Given the description of an element on the screen output the (x, y) to click on. 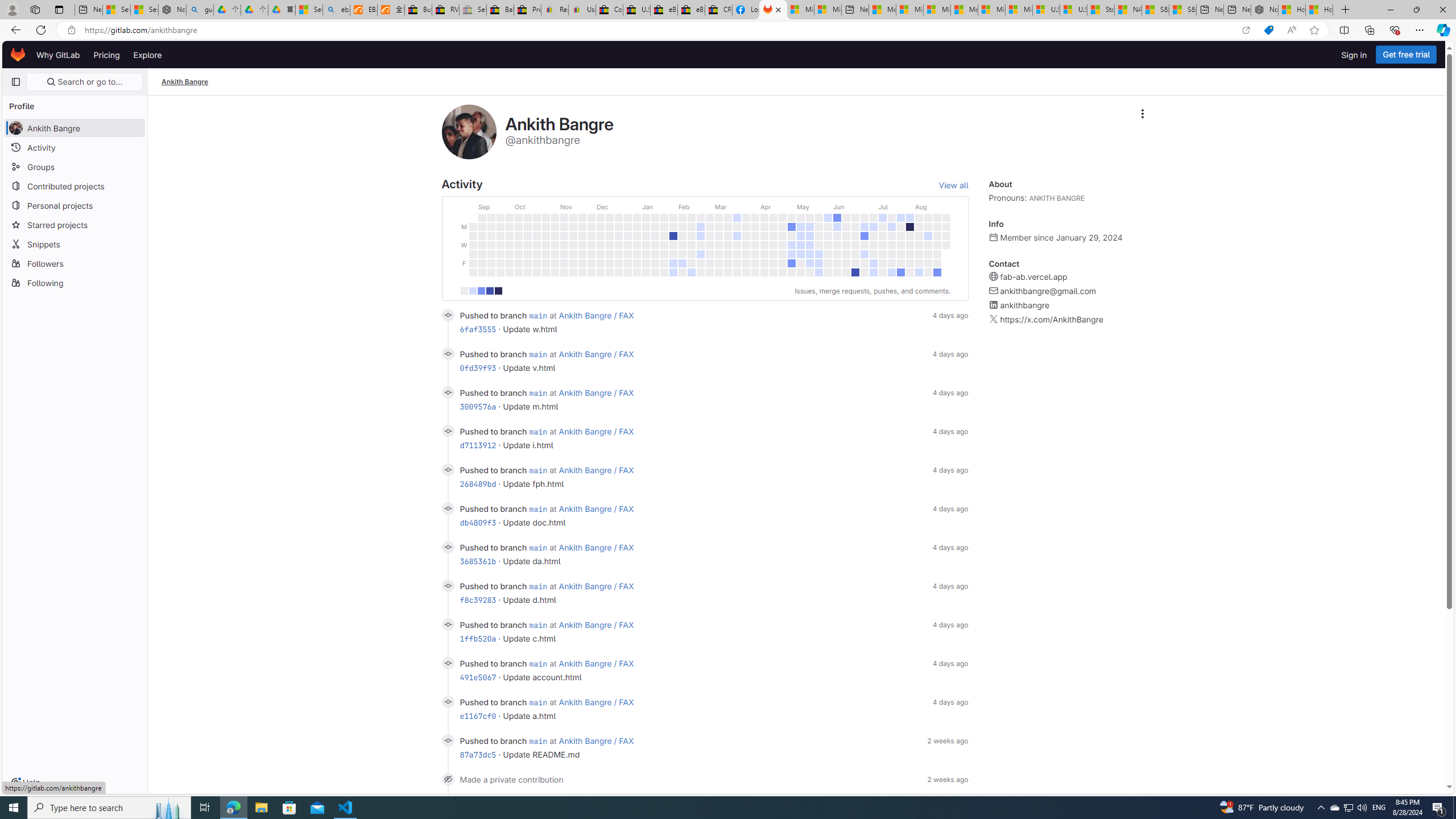
Why GitLab (58, 54)
View all (953, 184)
